Given the description of an element on the screen output the (x, y) to click on. 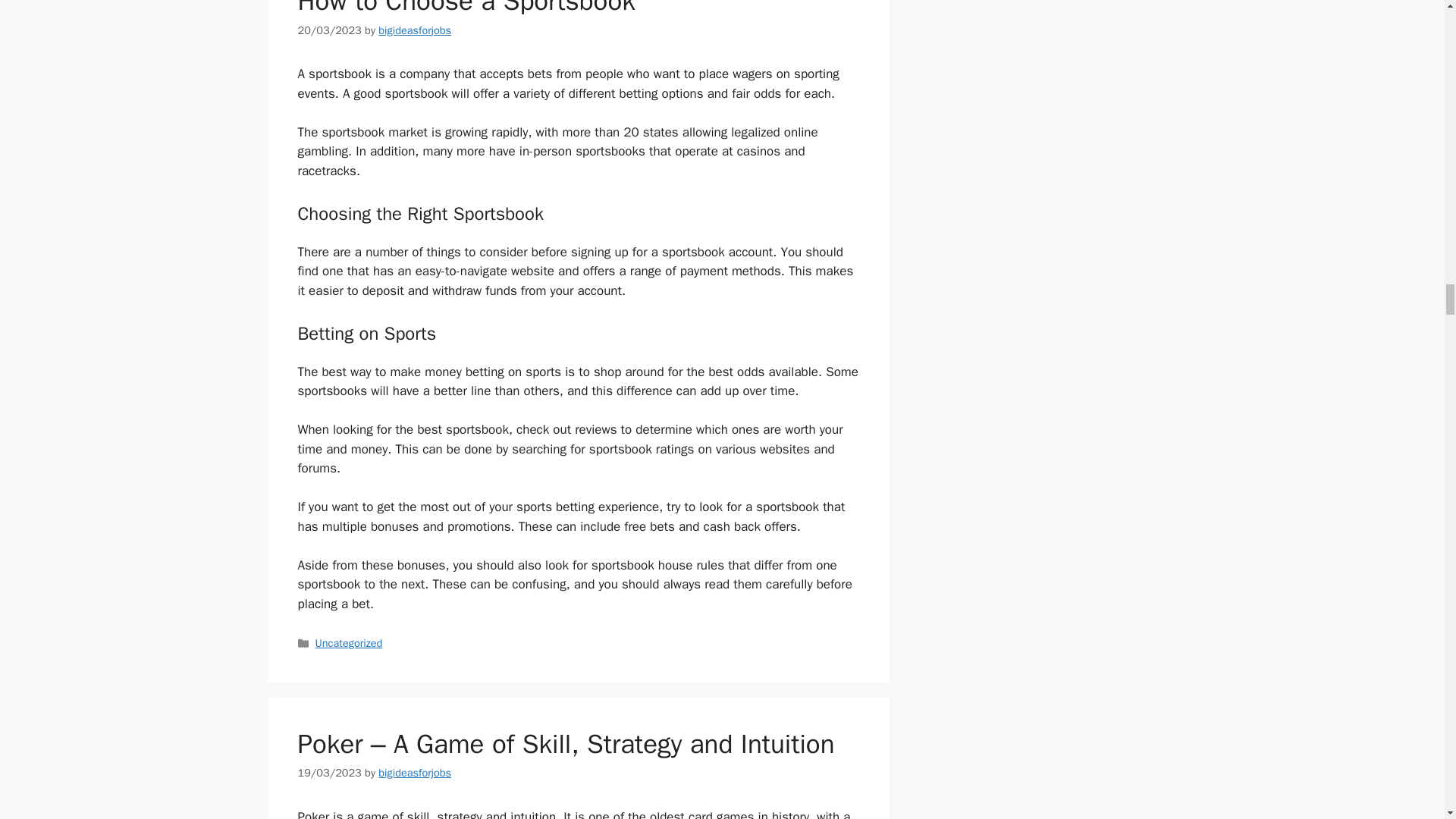
View all posts by bigideasforjobs (414, 29)
How to Choose a Sportsbook (465, 8)
bigideasforjobs (414, 29)
View all posts by bigideasforjobs (414, 772)
Uncategorized (348, 643)
